Given the description of an element on the screen output the (x, y) to click on. 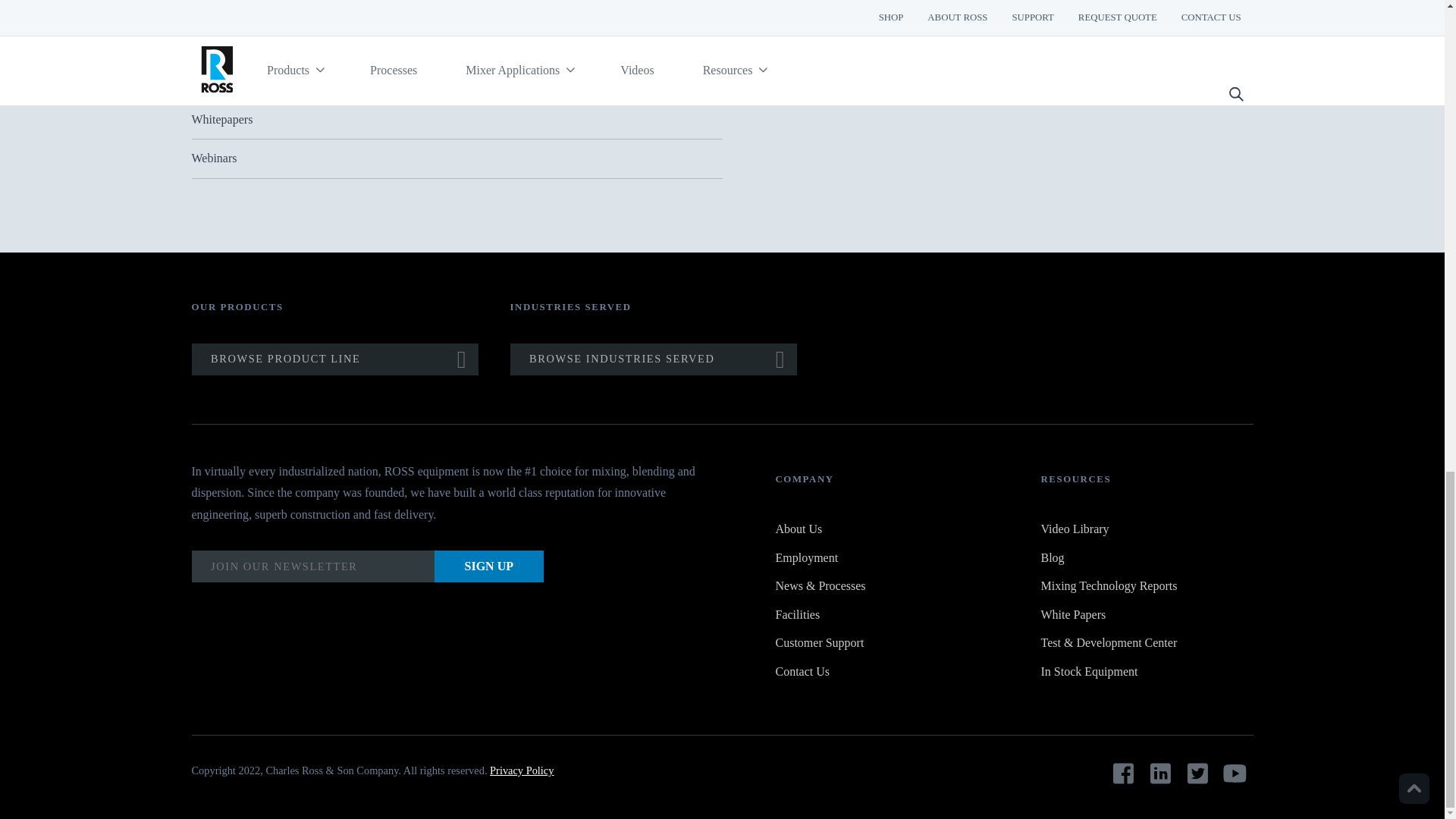
Facebook Link (1123, 773)
Twitter Page (1197, 773)
Youtube Profile (1234, 773)
LinkedIn Profile (1160, 773)
